Given the description of an element on the screen output the (x, y) to click on. 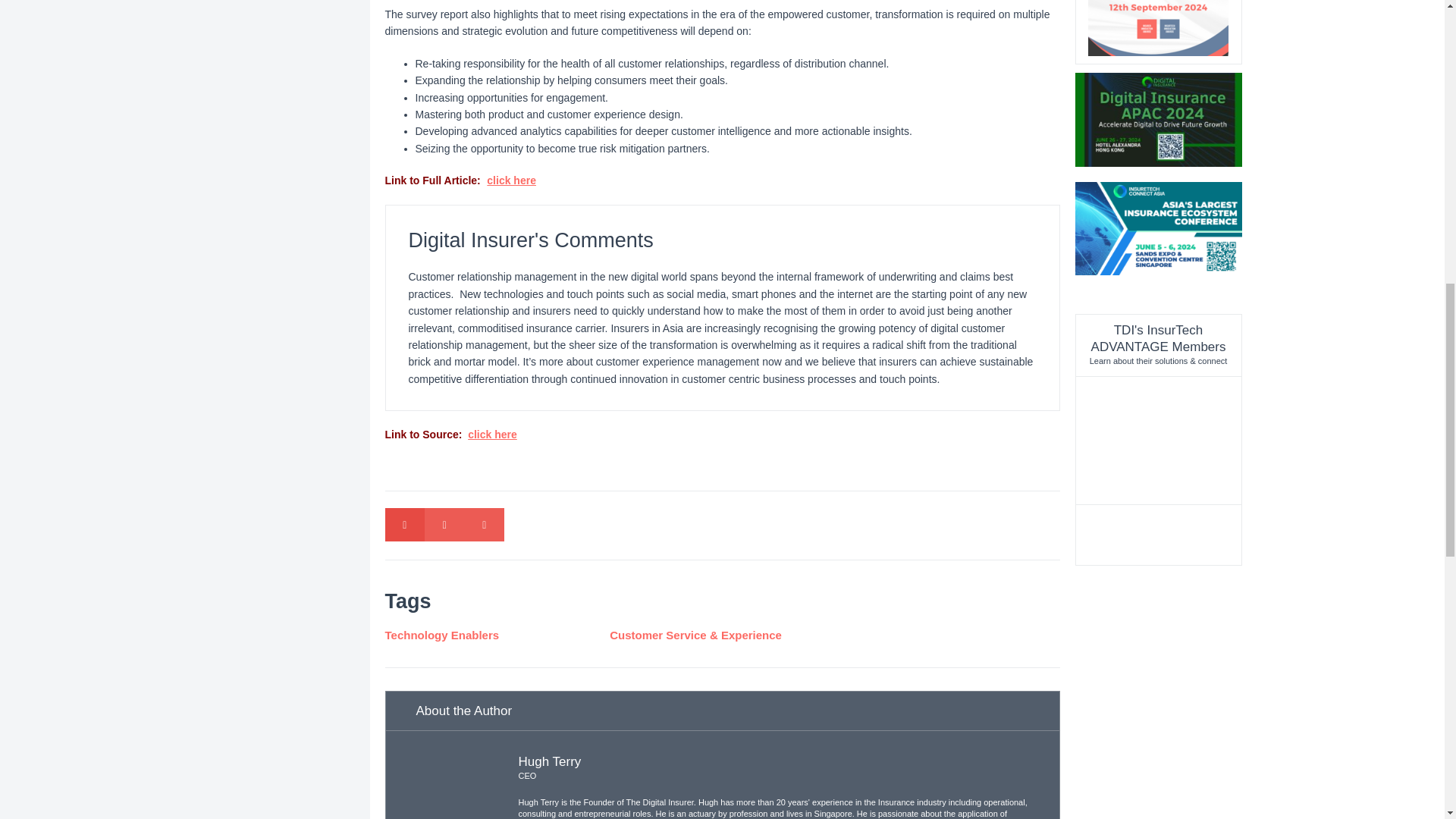
EY Global Customer Insurance Survey ebook - Original Link (491, 434)
EY Global Customer Insurance Survey ebook (510, 180)
Technology Enablers (497, 635)
